Given the description of an element on the screen output the (x, y) to click on. 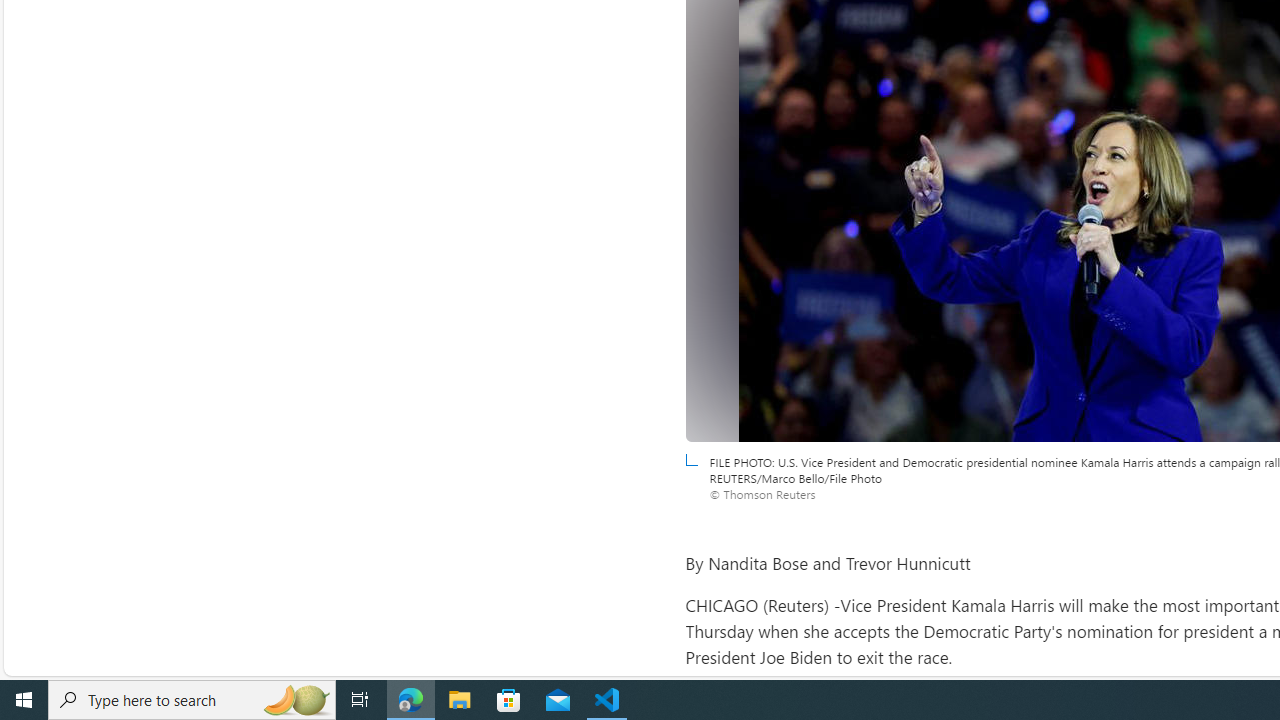
Microsoft Edge - 1 running window (411, 699)
Type here to search (191, 699)
Microsoft Store (509, 699)
Visual Studio Code - 1 running window (607, 699)
File Explorer (460, 699)
Search highlights icon opens search home window (295, 699)
Start (24, 699)
Task View (359, 699)
